Given the description of an element on the screen output the (x, y) to click on. 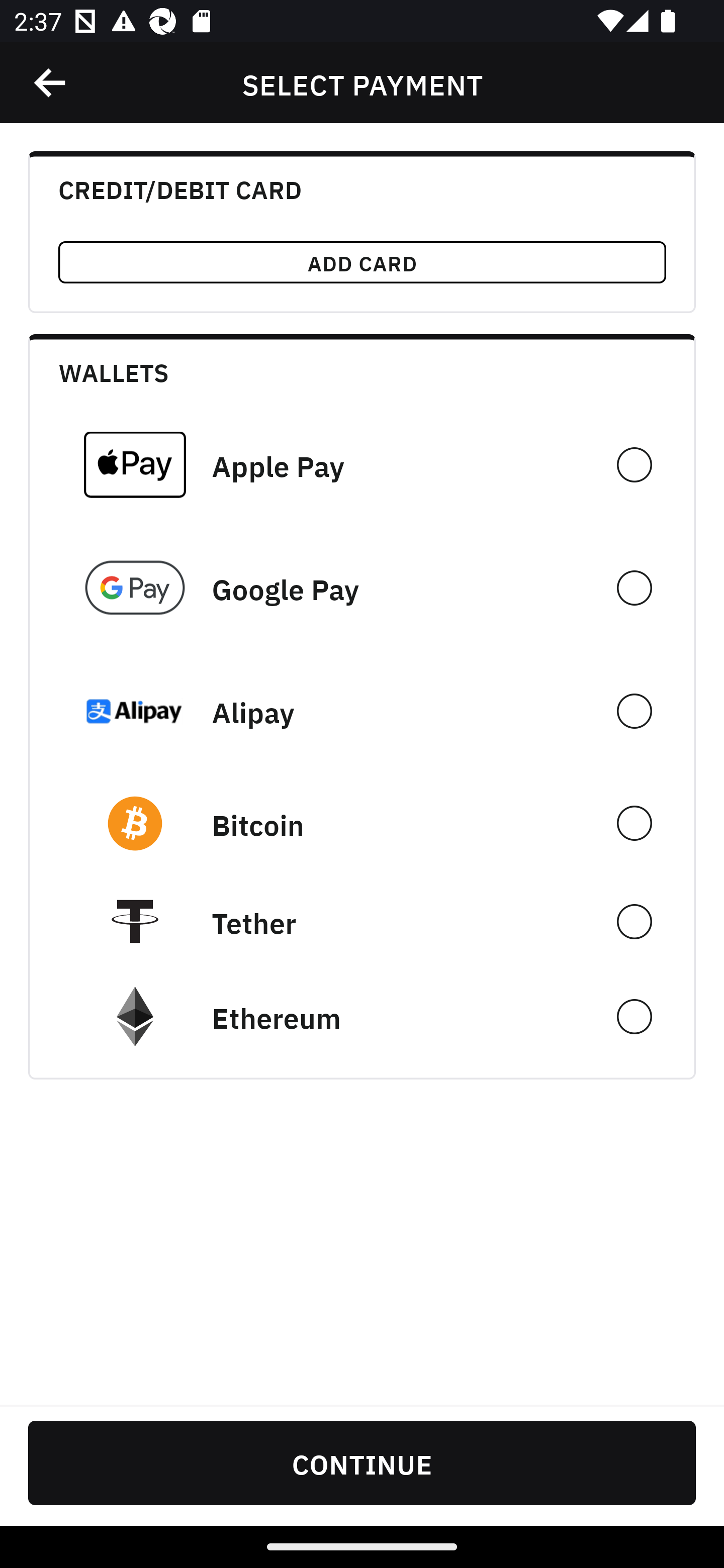
 (50, 83)
ADD CARD (362, 262)
Apple Pay (362, 464)
Google Pay (362, 587)
Alipay (362, 711)
󰠓 Bitcoin (362, 823)
Tether (362, 921)
Ethereum (362, 1016)
CONTINUE (361, 1462)
